Given the description of an element on the screen output the (x, y) to click on. 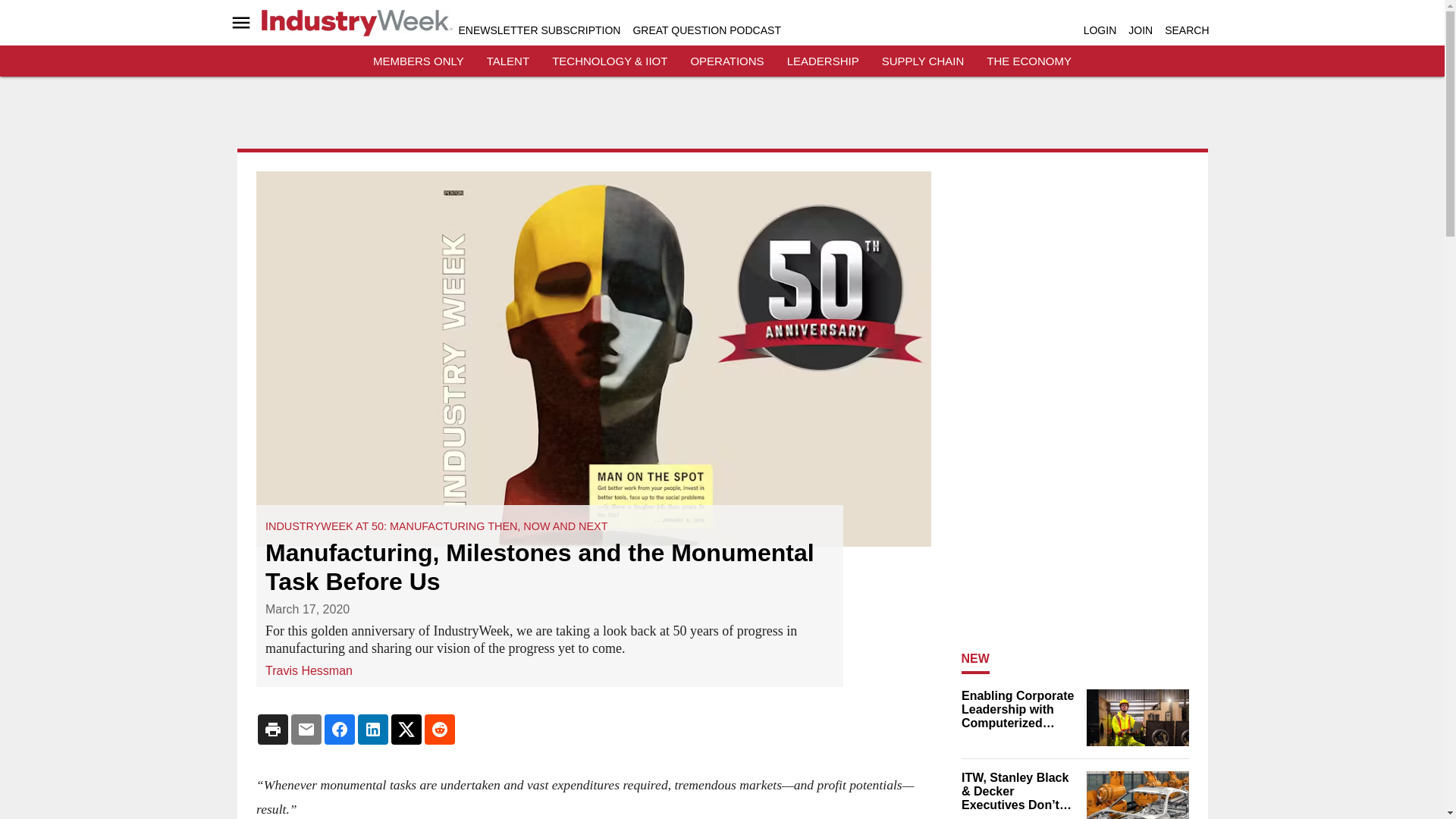
JOIN (1140, 30)
LEADERSHIP (823, 60)
GREAT QUESTION PODCAST (705, 30)
MEMBERS ONLY (418, 60)
TALENT (507, 60)
LOGIN (1099, 30)
SUPPLY CHAIN (922, 60)
SEARCH (1186, 30)
OPERATIONS (726, 60)
ENEWSLETTER SUBSCRIPTION (539, 30)
THE ECONOMY (1029, 60)
